Given the description of an element on the screen output the (x, y) to click on. 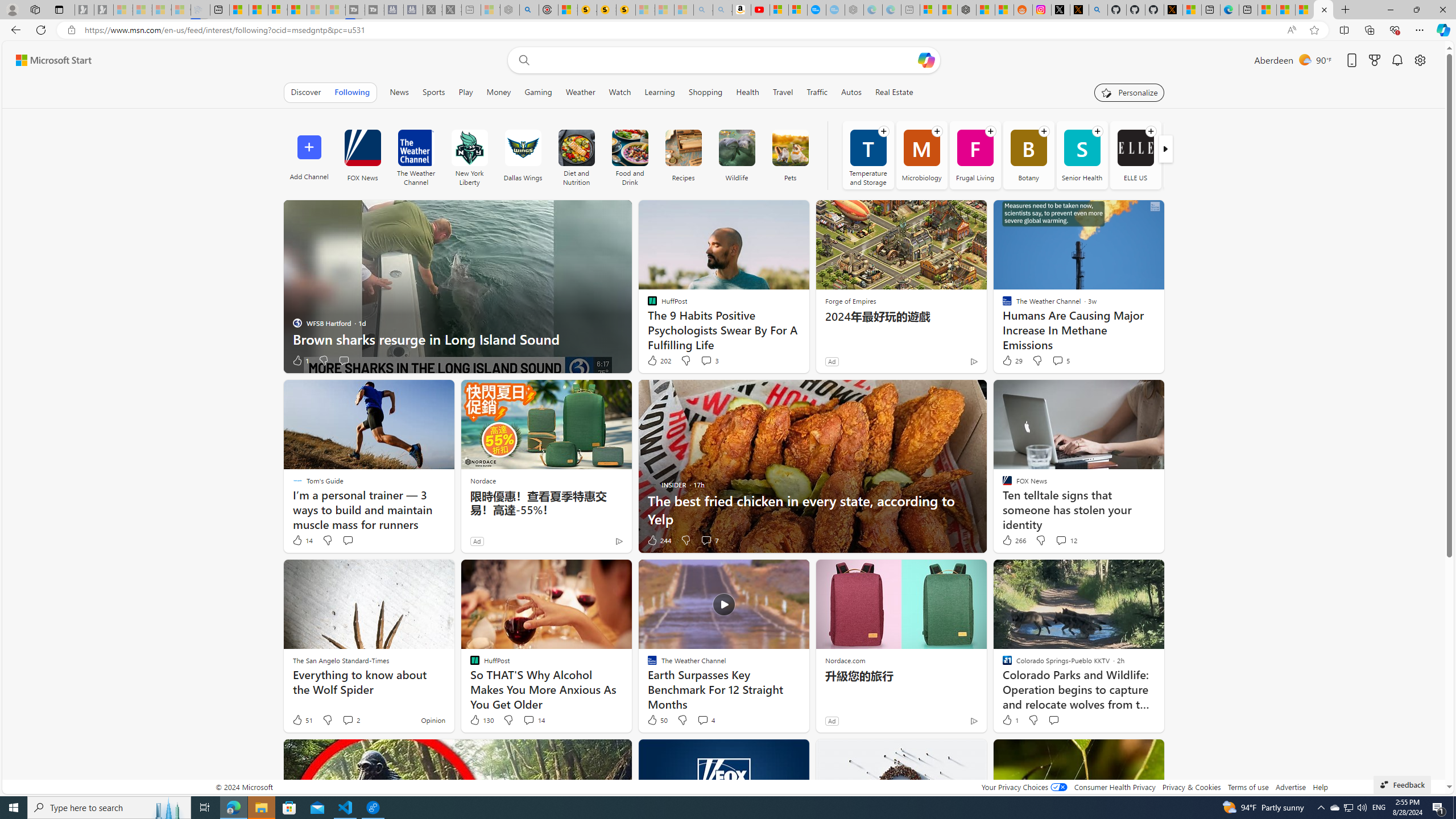
View comments 14 Comment (528, 719)
Welcome to Microsoft Edge (1229, 9)
View comments 12 Comment (1061, 540)
Pets (790, 155)
Your Privacy Choices (1024, 786)
Mostly sunny (1304, 59)
Nordace - Nordace has arrived Hong Kong - Sleeping (853, 9)
MSNBC - MSN (1285, 9)
Temperature and Storage (868, 155)
29 Like (1010, 360)
